Given the description of an element on the screen output the (x, y) to click on. 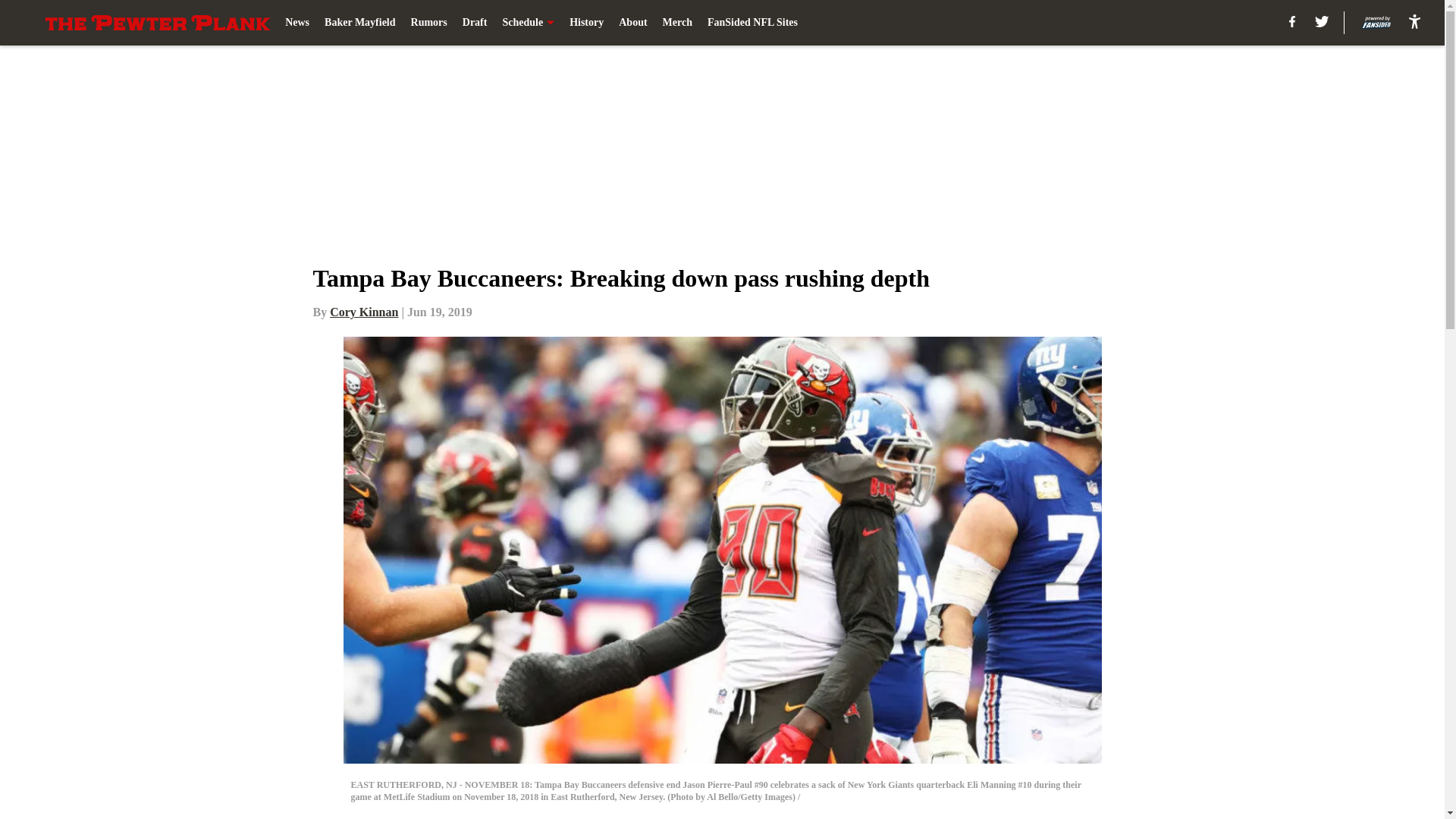
Rumors (428, 22)
History (586, 22)
Merch (677, 22)
Draft (475, 22)
About (632, 22)
FanSided NFL Sites (752, 22)
Baker Mayfield (359, 22)
Cory Kinnan (363, 311)
News (296, 22)
